Given the description of an element on the screen output the (x, y) to click on. 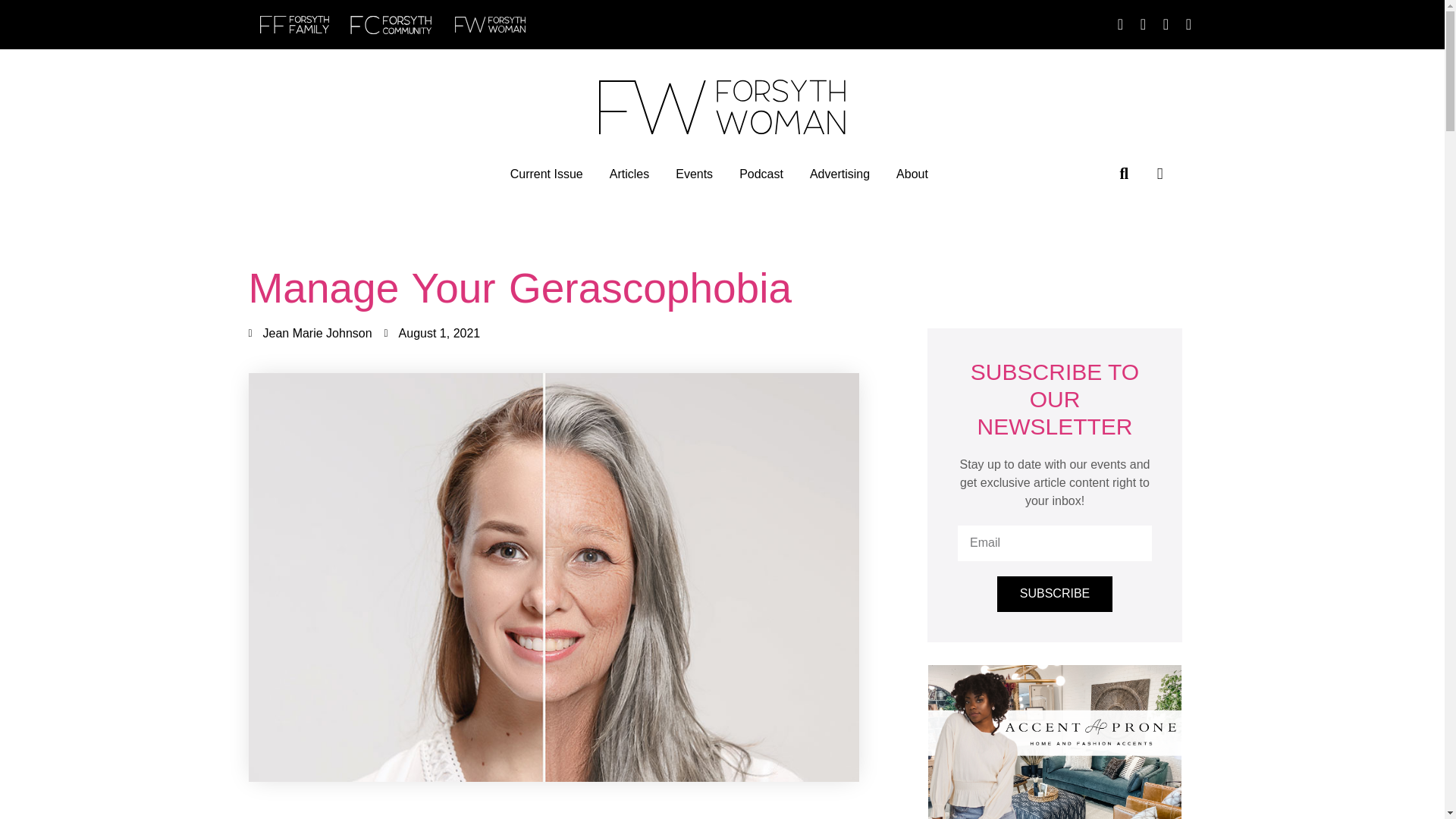
Advertising (839, 174)
About (912, 174)
Articles (629, 174)
Podcast (761, 174)
Current Issue (547, 174)
Events (694, 174)
